Given the description of an element on the screen output the (x, y) to click on. 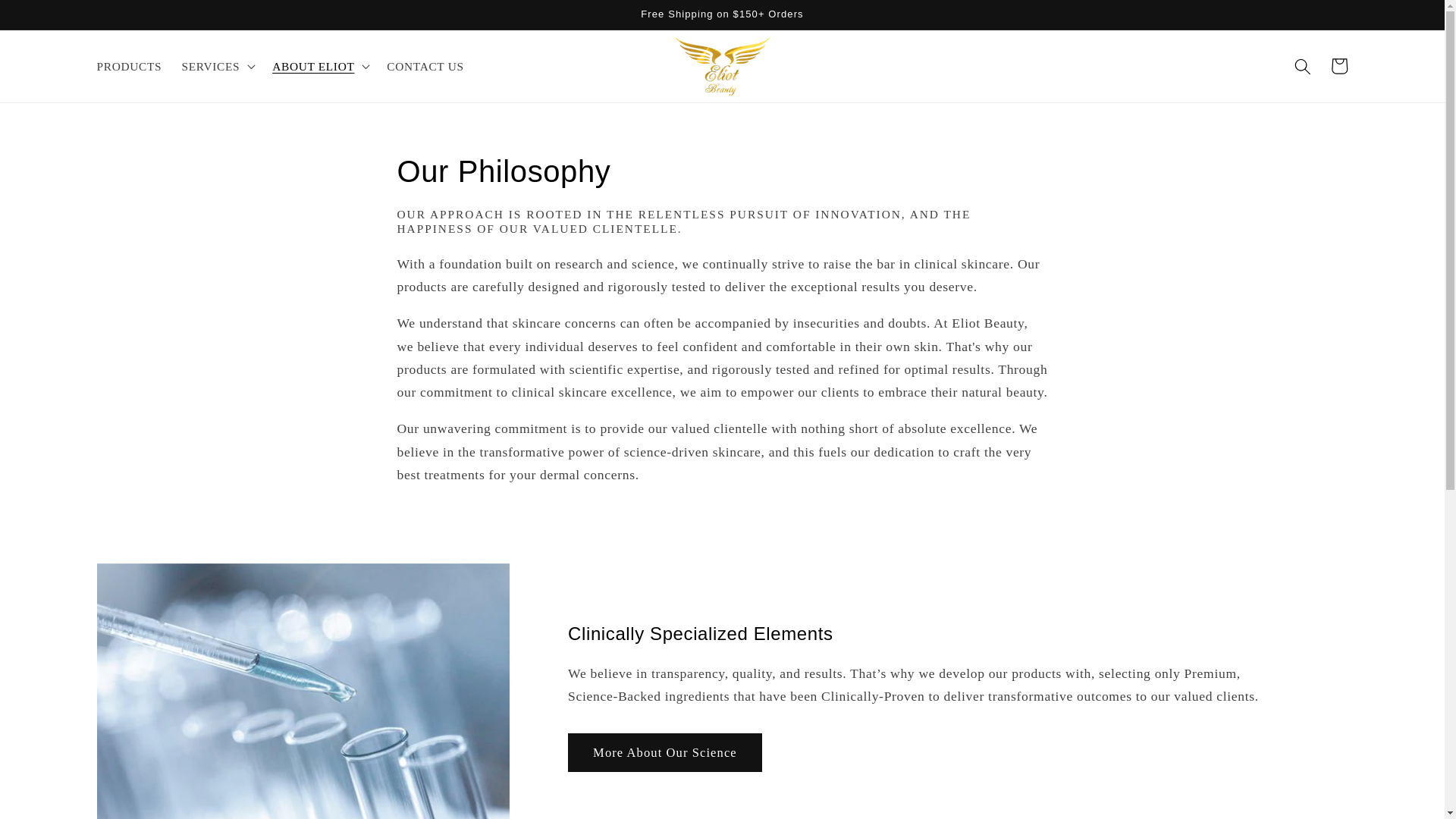
Skip to content (50, 19)
CONTACT US (425, 66)
More About Our Science (664, 753)
Cart (1338, 65)
PRODUCTS (128, 66)
